Given the description of an element on the screen output the (x, y) to click on. 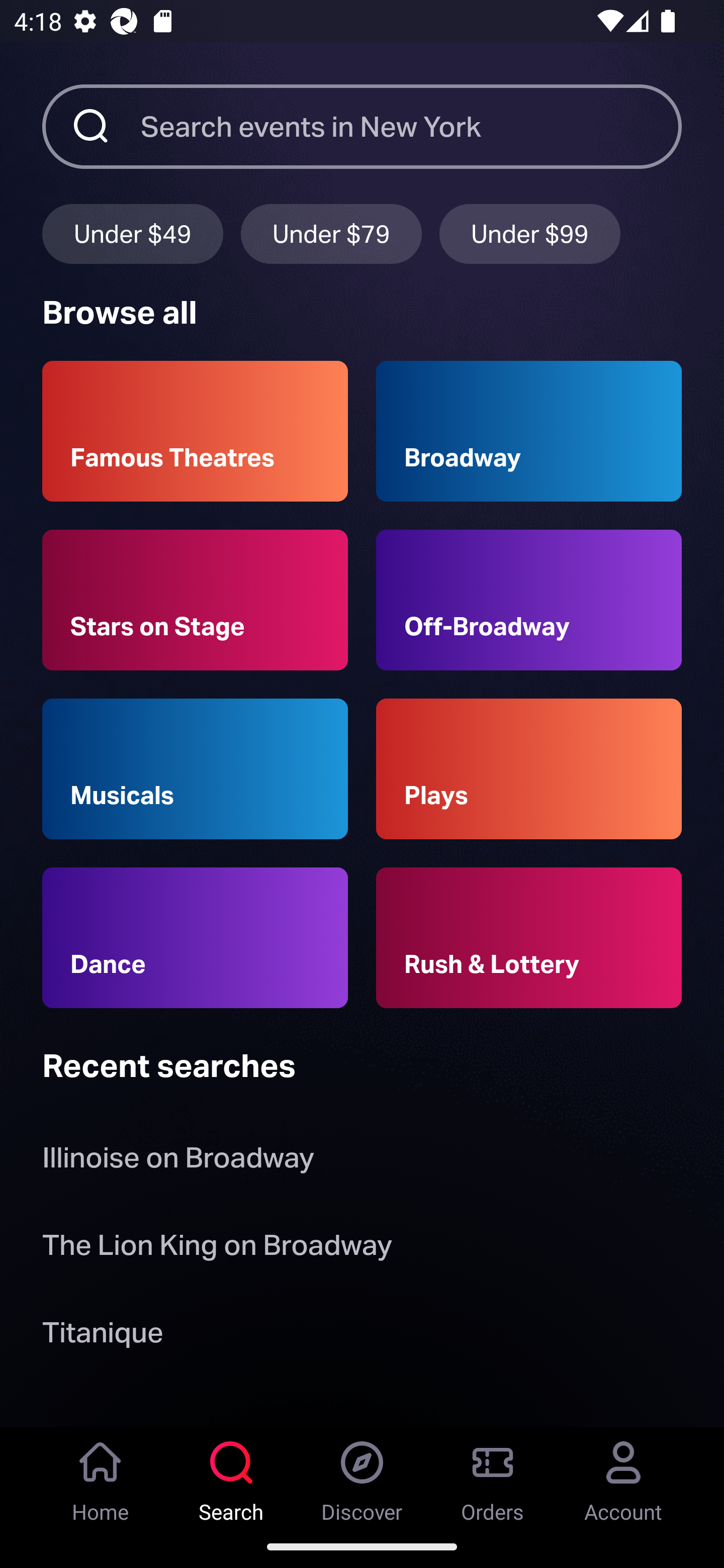
Search events in New York (411, 126)
Under $49 (131, 233)
Under $79 (331, 233)
Under $99 (529, 233)
Famous Theatres (194, 430)
Broadway (528, 430)
Stars on Stage (194, 600)
Off-Broadway (528, 600)
Musicals (194, 768)
Plays (528, 768)
Dance (194, 937)
Rush & Lottery (528, 937)
Illinoise on Broadway (177, 1161)
The Lion King on Broadway (216, 1248)
Titanique (102, 1335)
Home (100, 1475)
Discover (361, 1475)
Orders (492, 1475)
Account (623, 1475)
